Given the description of an element on the screen output the (x, y) to click on. 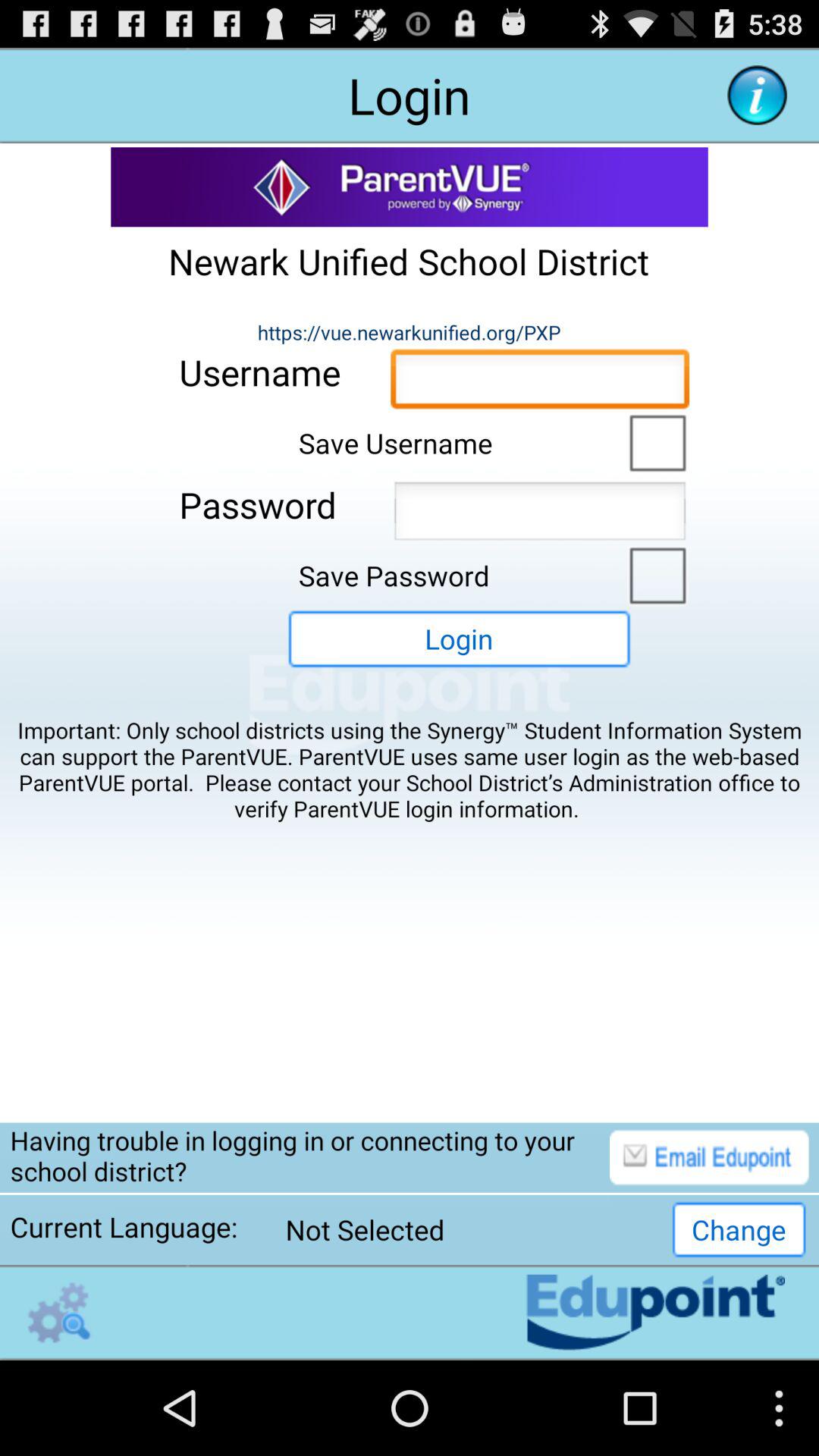
username textbox (539, 383)
